Given the description of an element on the screen output the (x, y) to click on. 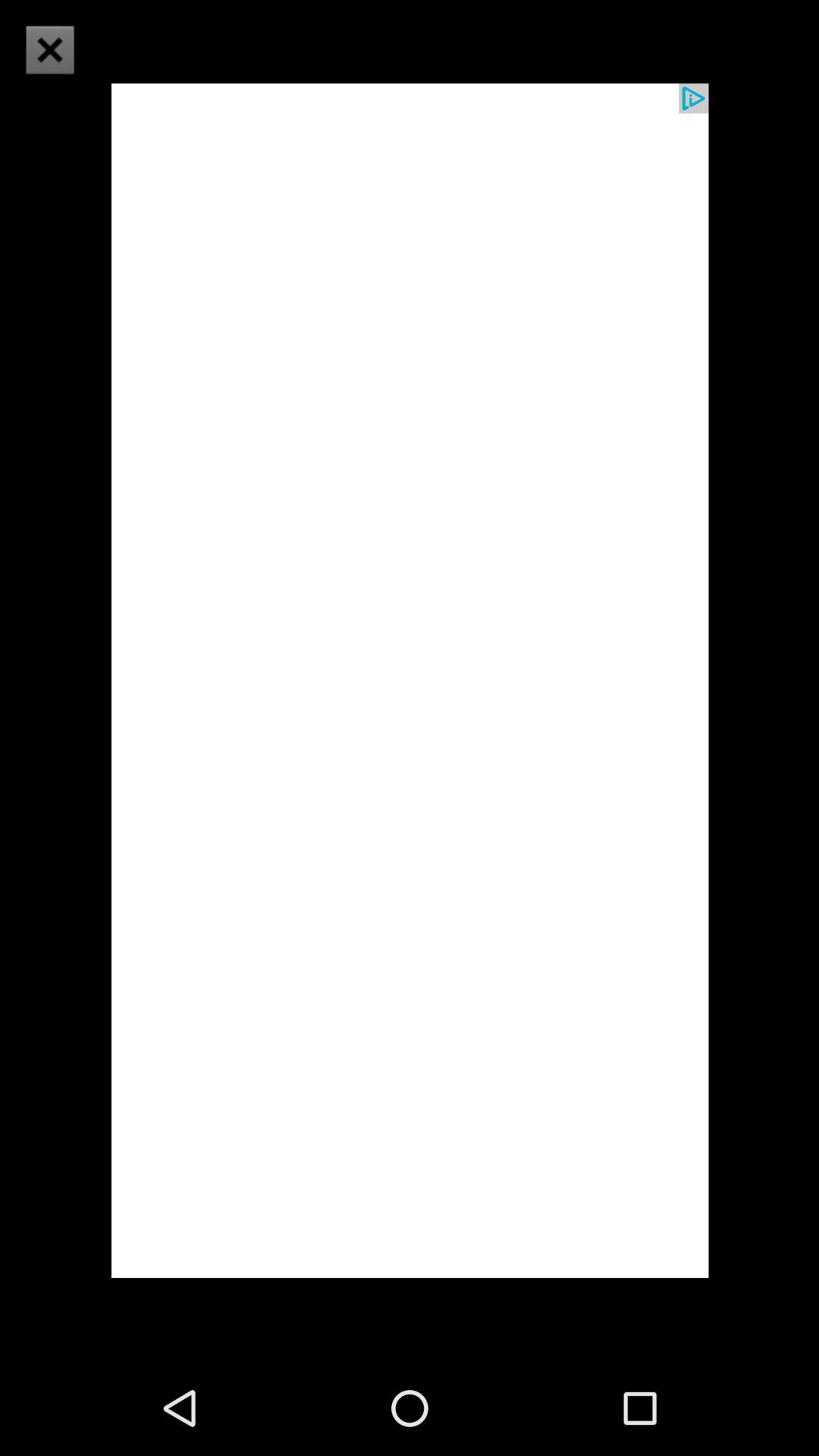
click the item at the top left corner (59, 59)
